Given the description of an element on the screen output the (x, y) to click on. 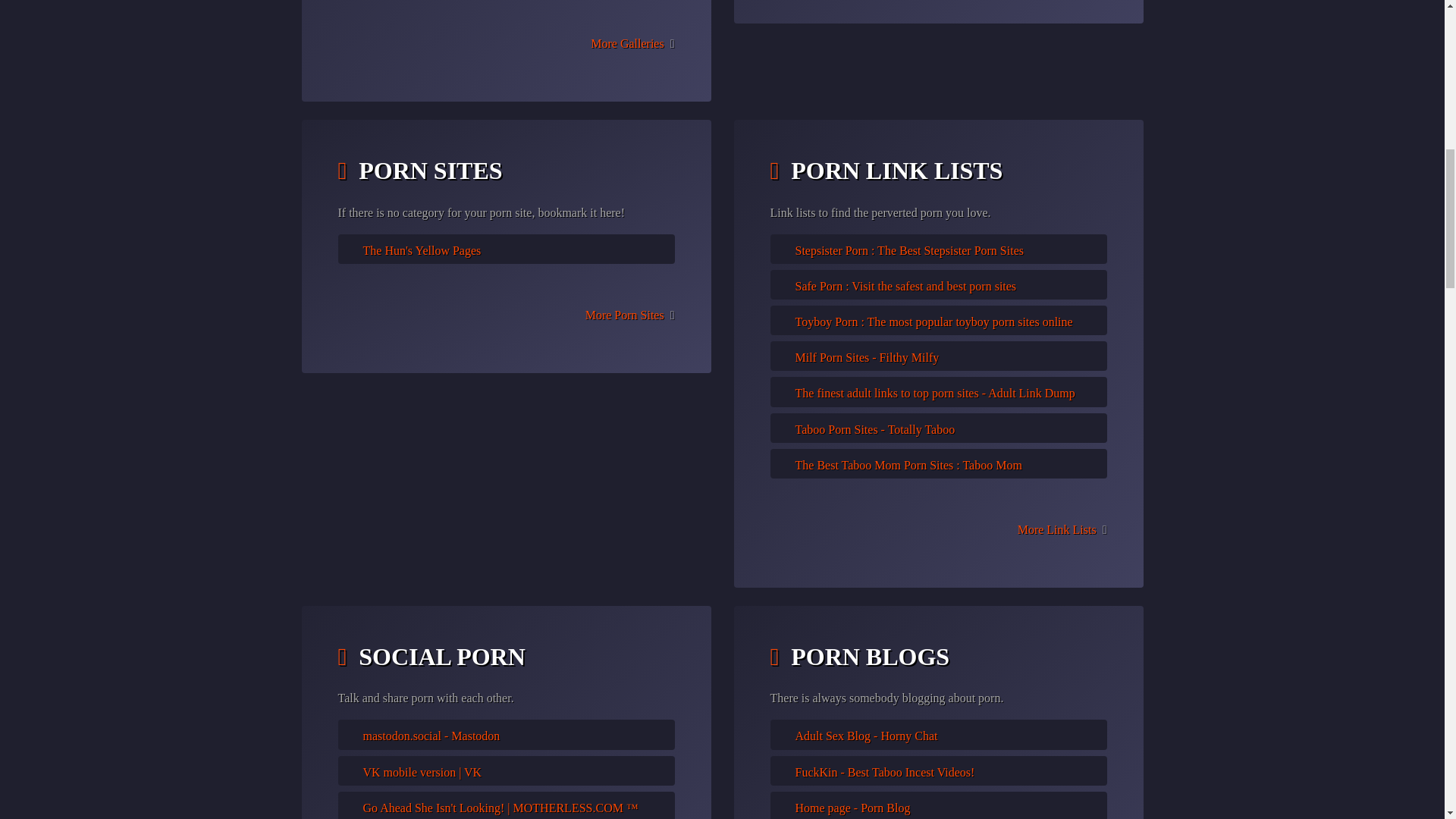
The finest adult links to top porn sites - Adult Link Dump (934, 392)
The Best Taboo Mom Porn Sites : Taboo Mom (908, 464)
Taboo Porn Sites - Totally Taboo (874, 429)
More Porn Sites (624, 314)
mastodon.social - Mastodon (430, 735)
Stepsister Porn : The Best Stepsister Porn Sites (908, 250)
Safe Porn : Visit the safest and best porn sites (905, 286)
Milf Porn Sites - Filthy Milfy (866, 357)
Toyboy Porn : The most popular toyboy porn sites online (932, 321)
The Hun's Yellow Pages (421, 250)
